Given the description of an element on the screen output the (x, y) to click on. 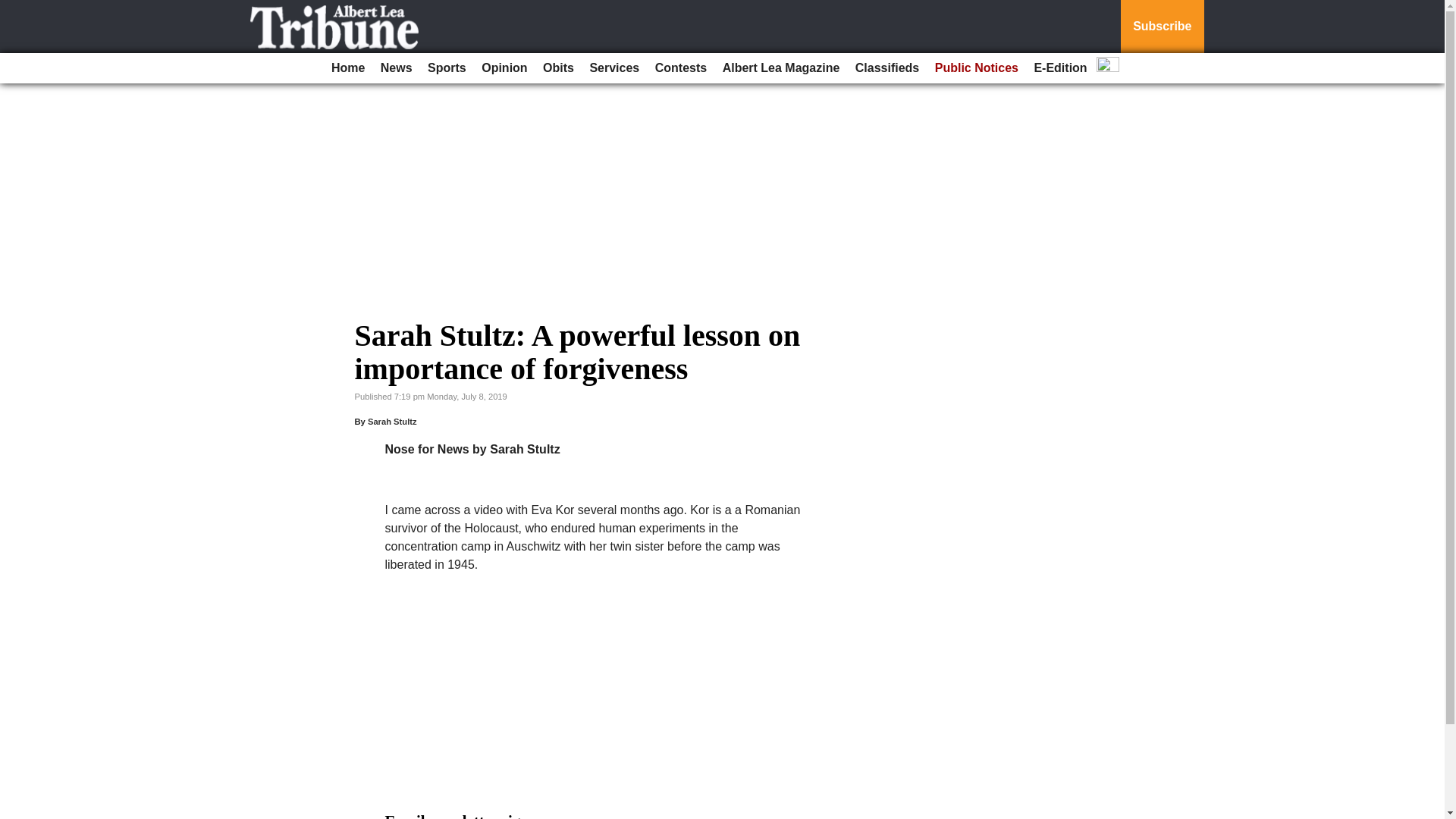
Services (614, 68)
Opinion (504, 68)
Home (347, 68)
Obits (558, 68)
News (396, 68)
Subscribe (1162, 26)
Sports (446, 68)
